Given the description of an element on the screen output the (x, y) to click on. 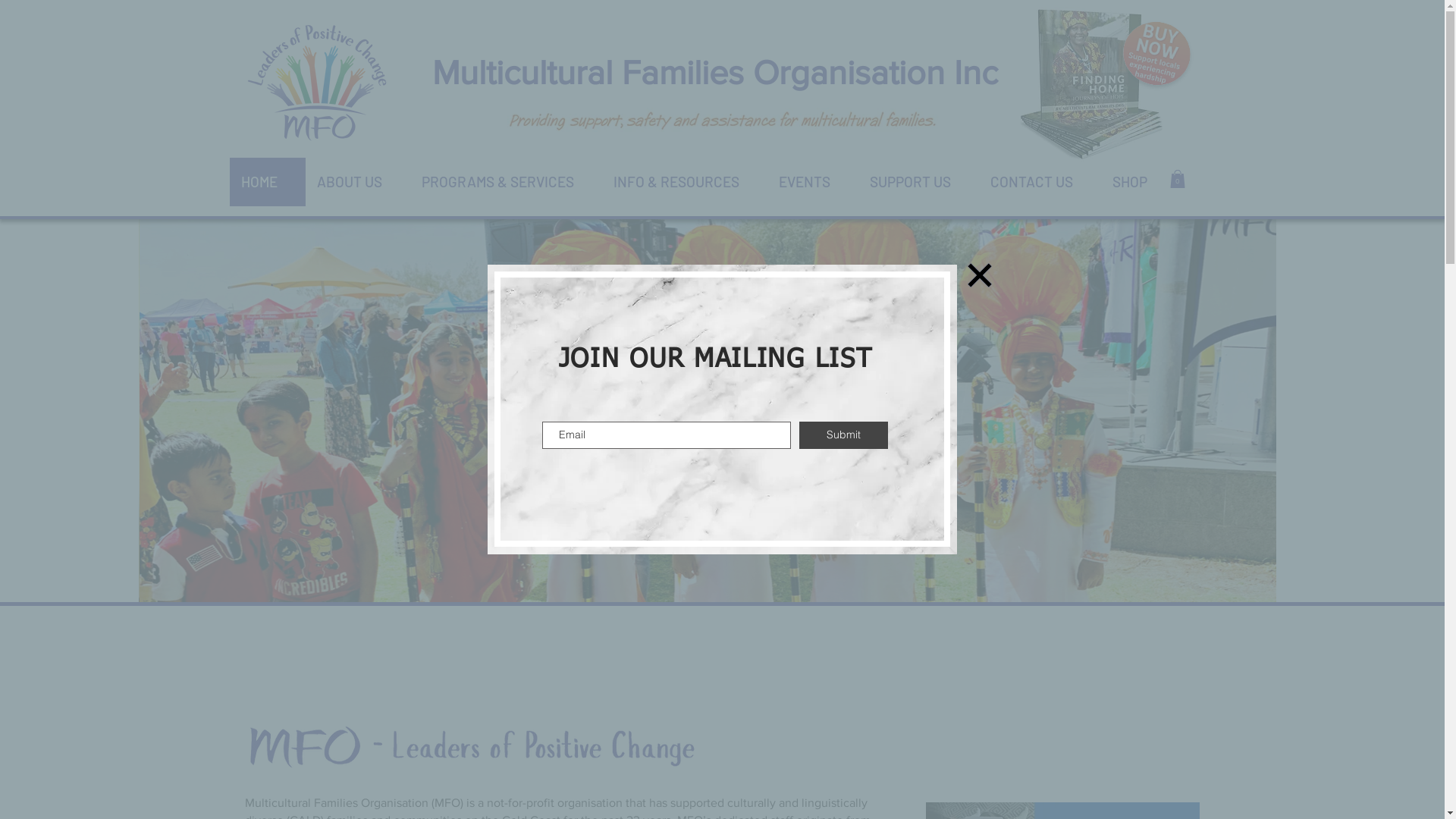
CONTACT US Element type: text (1039, 181)
SUPPORT US Element type: text (918, 181)
HOME Element type: text (266, 181)
0 Element type: text (1176, 178)
PROGRAMS & SERVICES Element type: text (505, 181)
SHOP Element type: text (1138, 181)
ABOUT US Element type: text (356, 181)
EVENTS Element type: text (812, 181)
Back to site Element type: hover (979, 275)
INFO & RESOURCES Element type: text (684, 181)
